Given the description of an element on the screen output the (x, y) to click on. 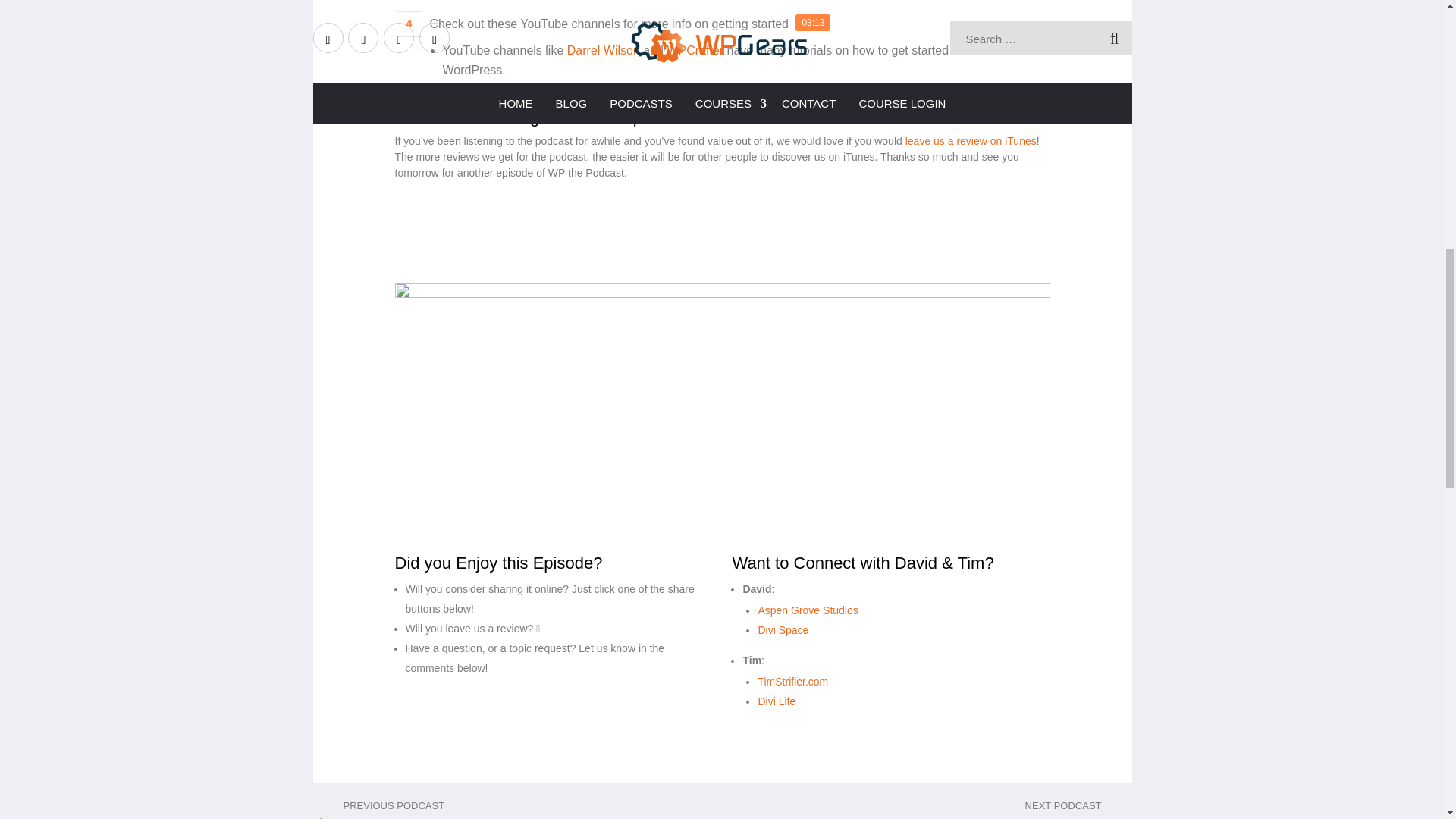
TimStrifler.com (792, 681)
leave us a review on iTunes (970, 141)
WPCrafter (694, 50)
Divi Life (775, 701)
Aspen Grove Studios (807, 610)
Darrel Wilson (603, 50)
Divi Space (782, 630)
